Given the description of an element on the screen output the (x, y) to click on. 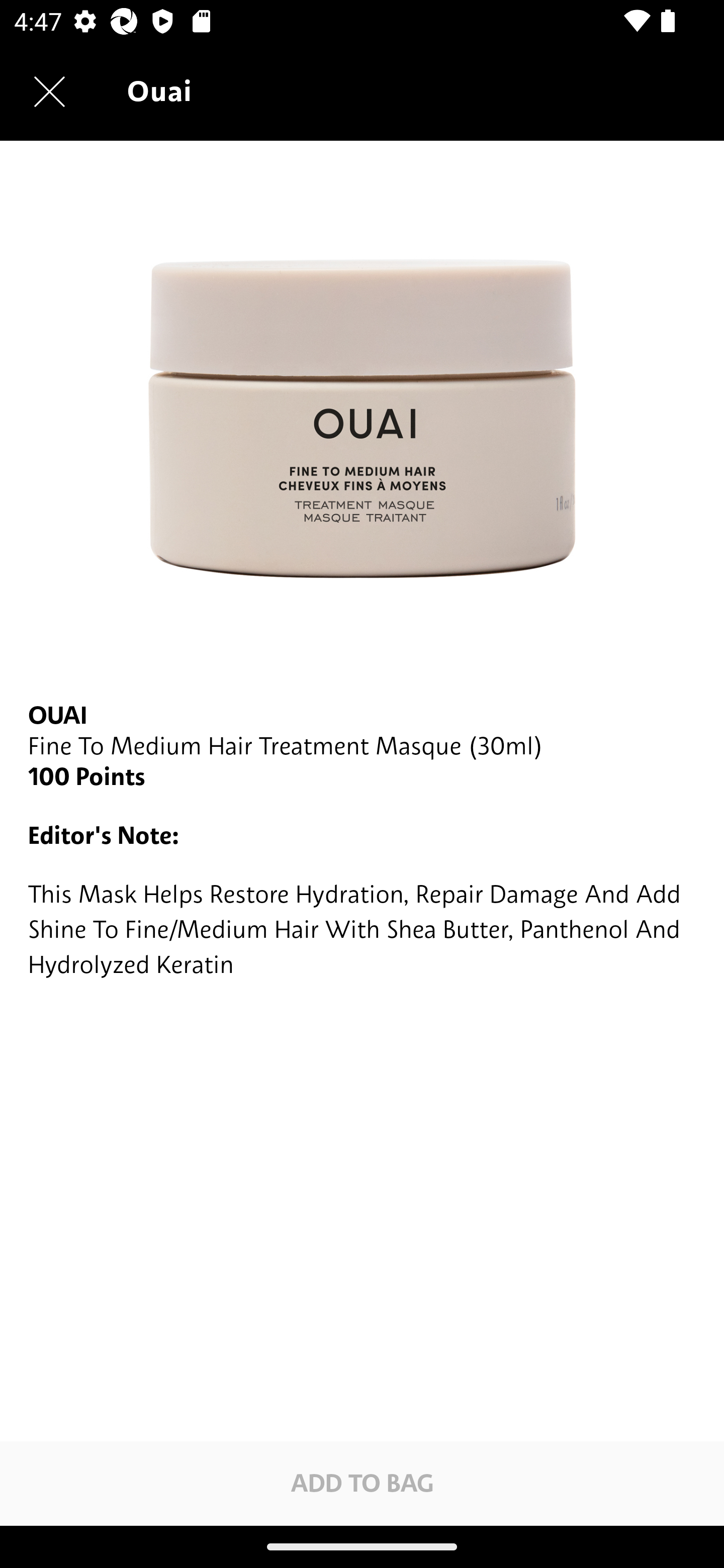
ADD TO BAG (362, 1482)
